Given the description of an element on the screen output the (x, y) to click on. 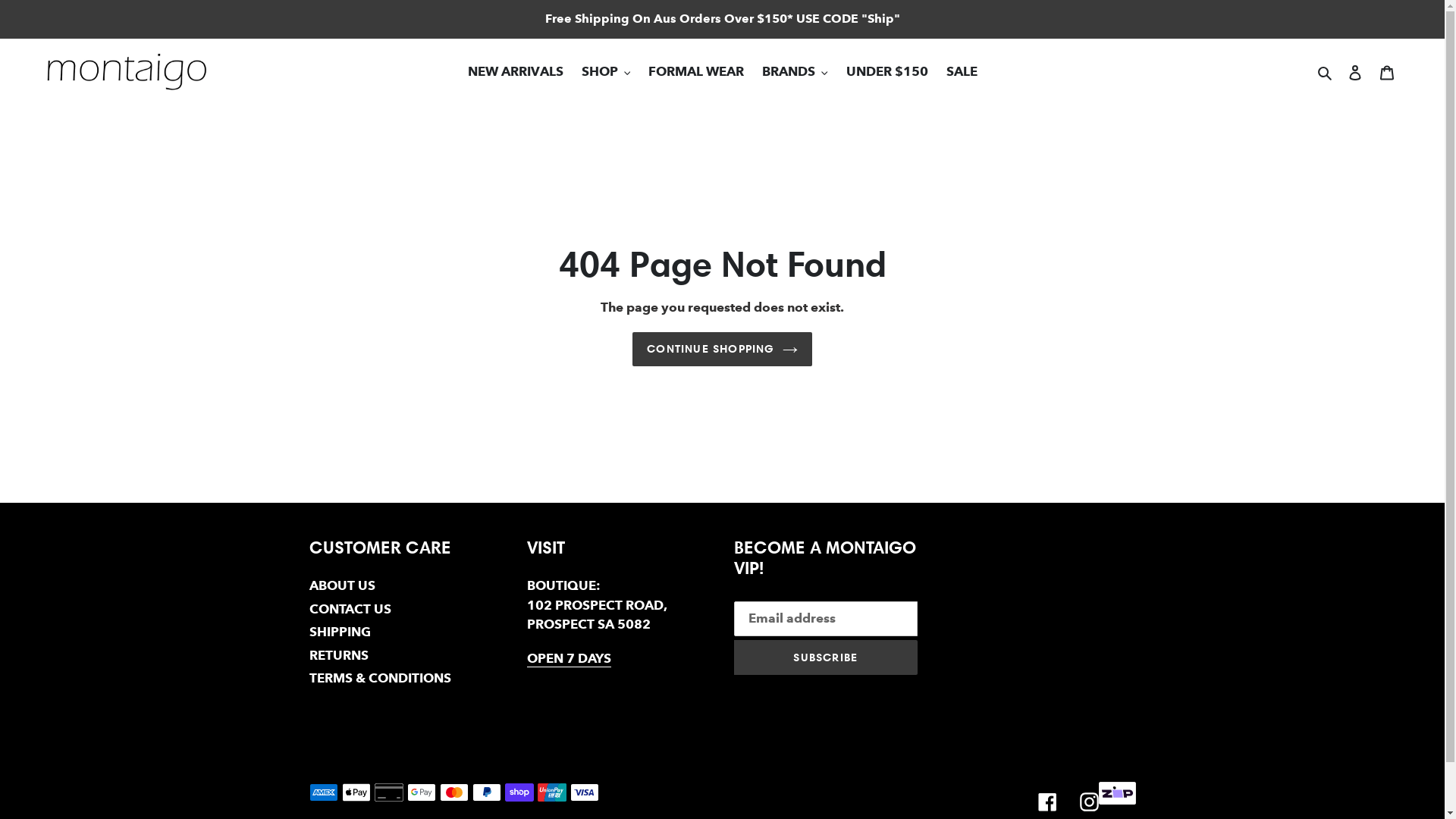
SHIPPING Element type: text (339, 632)
RETURNS Element type: text (338, 655)
Cart Element type: text (1386, 71)
Log in Element type: text (1355, 71)
Instagram Element type: text (1088, 801)
ABOUT US Element type: text (342, 585)
FORMAL WEAR Element type: text (695, 71)
NEW ARRIVALS Element type: text (514, 71)
SHOP Element type: text (605, 71)
Facebook Element type: text (1047, 801)
BRANDS Element type: text (794, 71)
SALE Element type: text (961, 71)
SUBSCRIBE Element type: text (826, 657)
Search Element type: text (1325, 71)
UNDER $150 Element type: text (886, 71)
CONTACT US Element type: text (350, 609)
CONTINUE SHOPPING Element type: text (721, 349)
TERMS & CONDITIONS Element type: text (380, 678)
OPEN 7 DAYS Element type: text (569, 658)
